Given the description of an element on the screen output the (x, y) to click on. 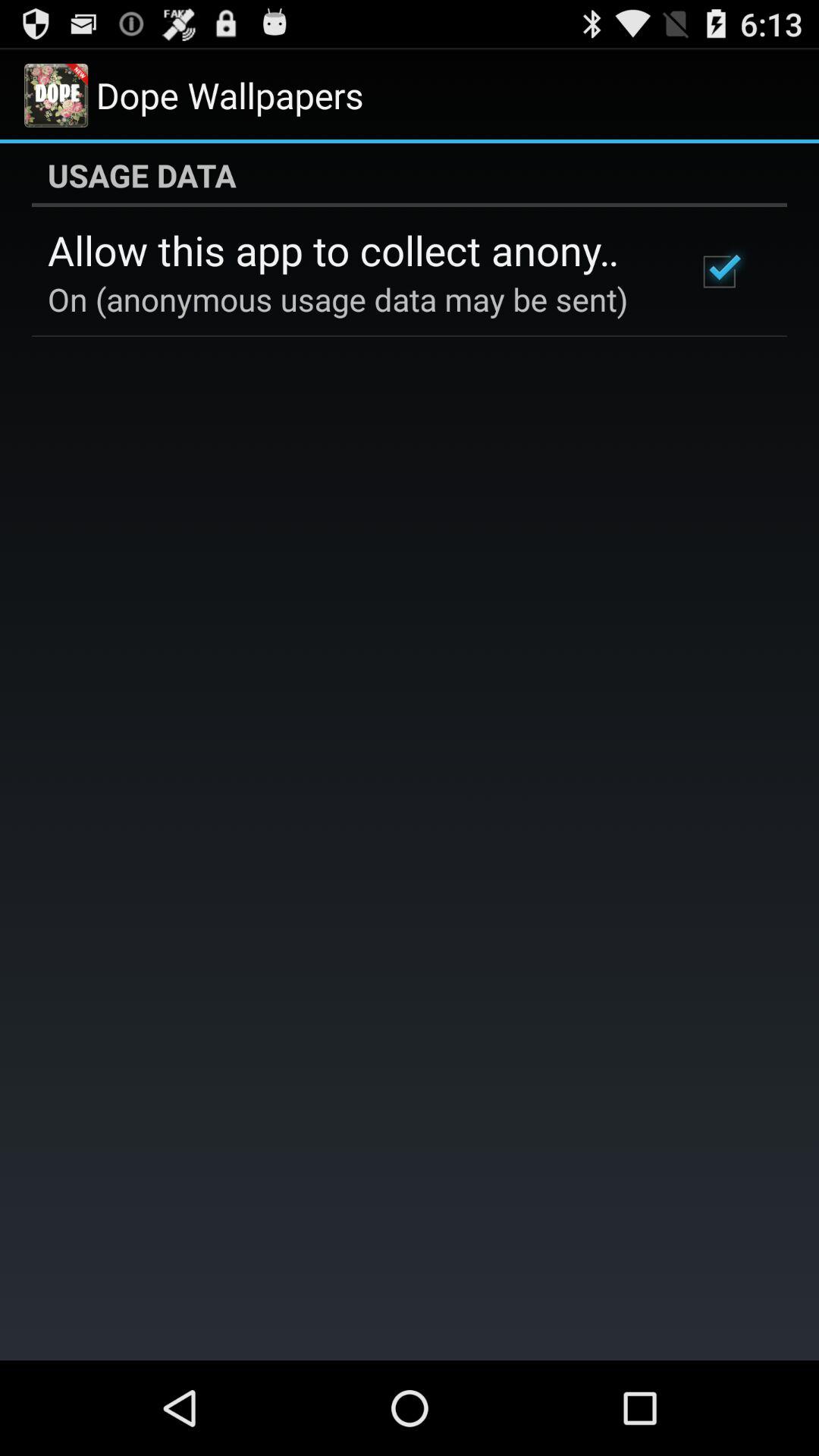
choose the app below usage data item (351, 249)
